Given the description of an element on the screen output the (x, y) to click on. 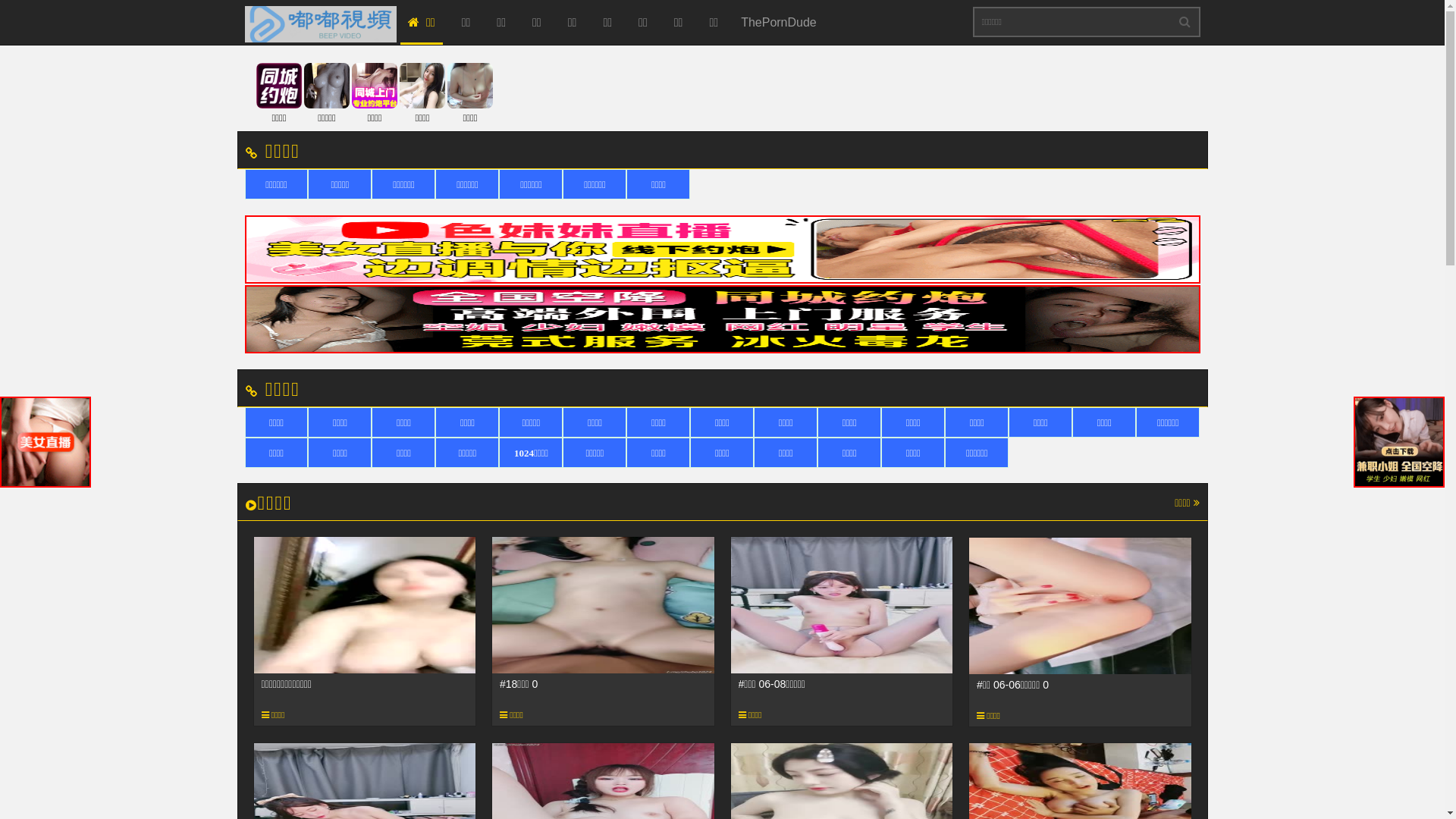
ThePornDude Element type: text (778, 22)
